Given the description of an element on the screen output the (x, y) to click on. 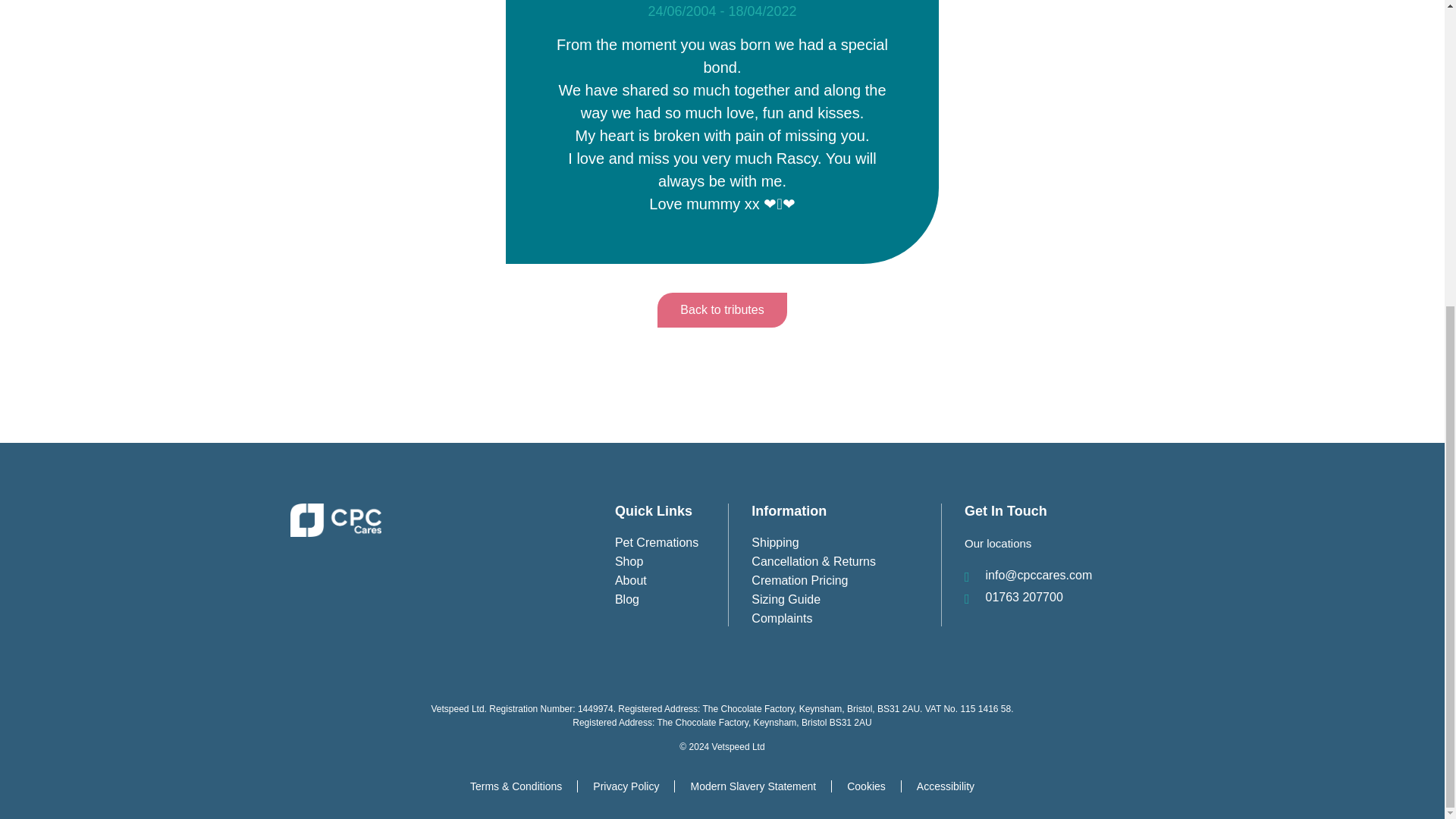
Cremation Pricing (845, 580)
Blog (671, 599)
About (671, 580)
Pet Cremations (671, 542)
Shipping (845, 542)
Sizing Guide (845, 599)
Back to tributes (722, 309)
Complaints (845, 618)
Shop (671, 561)
